Given the description of an element on the screen output the (x, y) to click on. 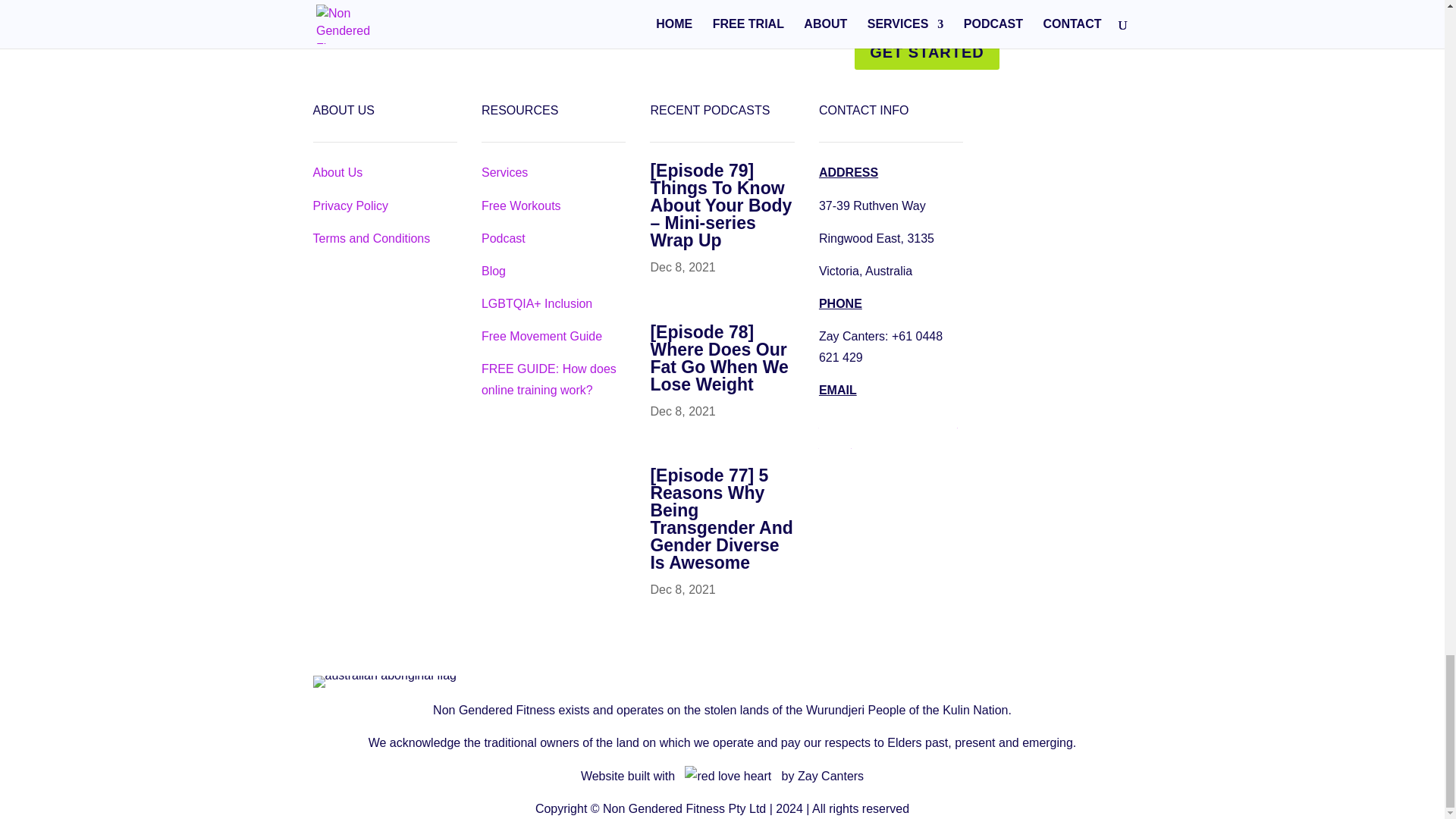
Follow on Facebook (1058, 111)
Privacy Policy (350, 205)
About Us (337, 172)
Follow on LinkedIn (1058, 154)
Terms and Conditions (371, 237)
GET STARTED (926, 52)
